Given the description of an element on the screen output the (x, y) to click on. 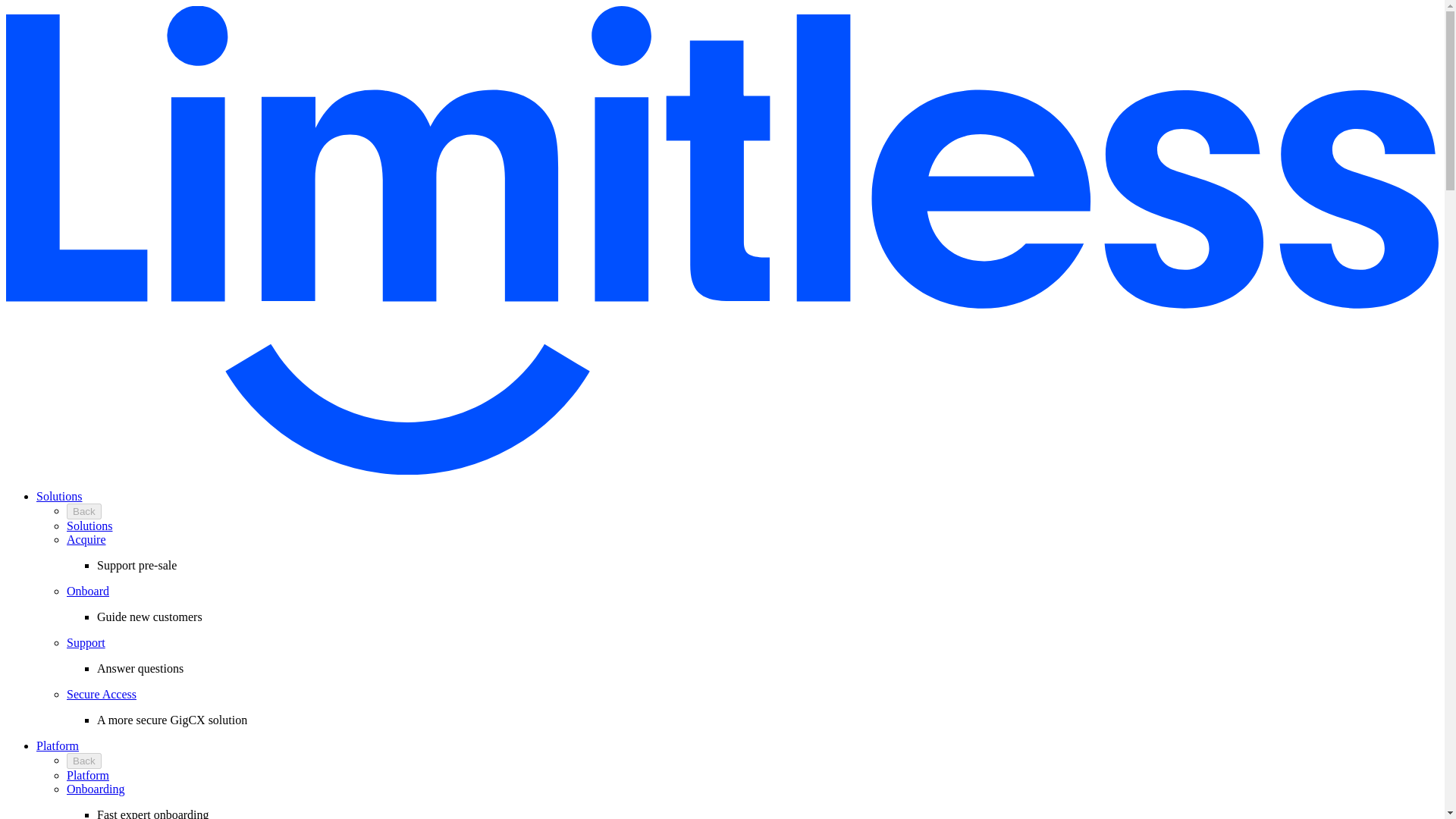
Solutions (89, 525)
Platform (57, 745)
Support (85, 642)
Platform (57, 745)
Back (83, 511)
Platform (87, 775)
Onboard (87, 590)
Onboarding (94, 788)
Acquire (86, 539)
Back (83, 760)
Secure Access (101, 694)
Back (83, 511)
Acquire (86, 539)
Onboard (87, 590)
Onboarding (94, 788)
